Given the description of an element on the screen output the (x, y) to click on. 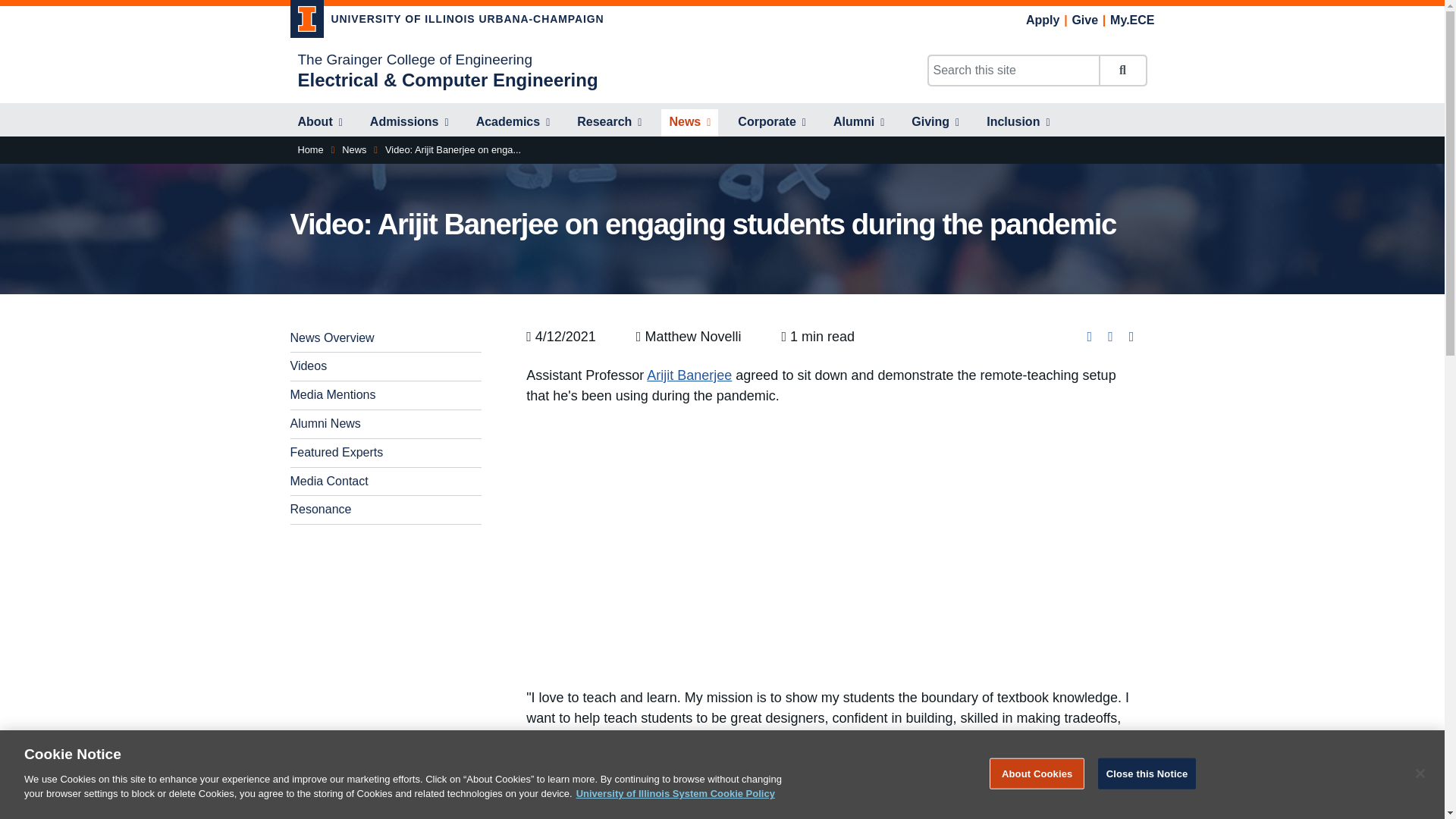
Search (1121, 70)
The Grainger College of Engineering (414, 59)
Apply (1042, 19)
Admissions (409, 122)
About (319, 122)
YouTube video player (833, 544)
My.ECE (1131, 19)
Give (1084, 19)
UNIVERSITY OF ILLINOIS URBANA-CHAMPAIGN (446, 21)
